Given the description of an element on the screen output the (x, y) to click on. 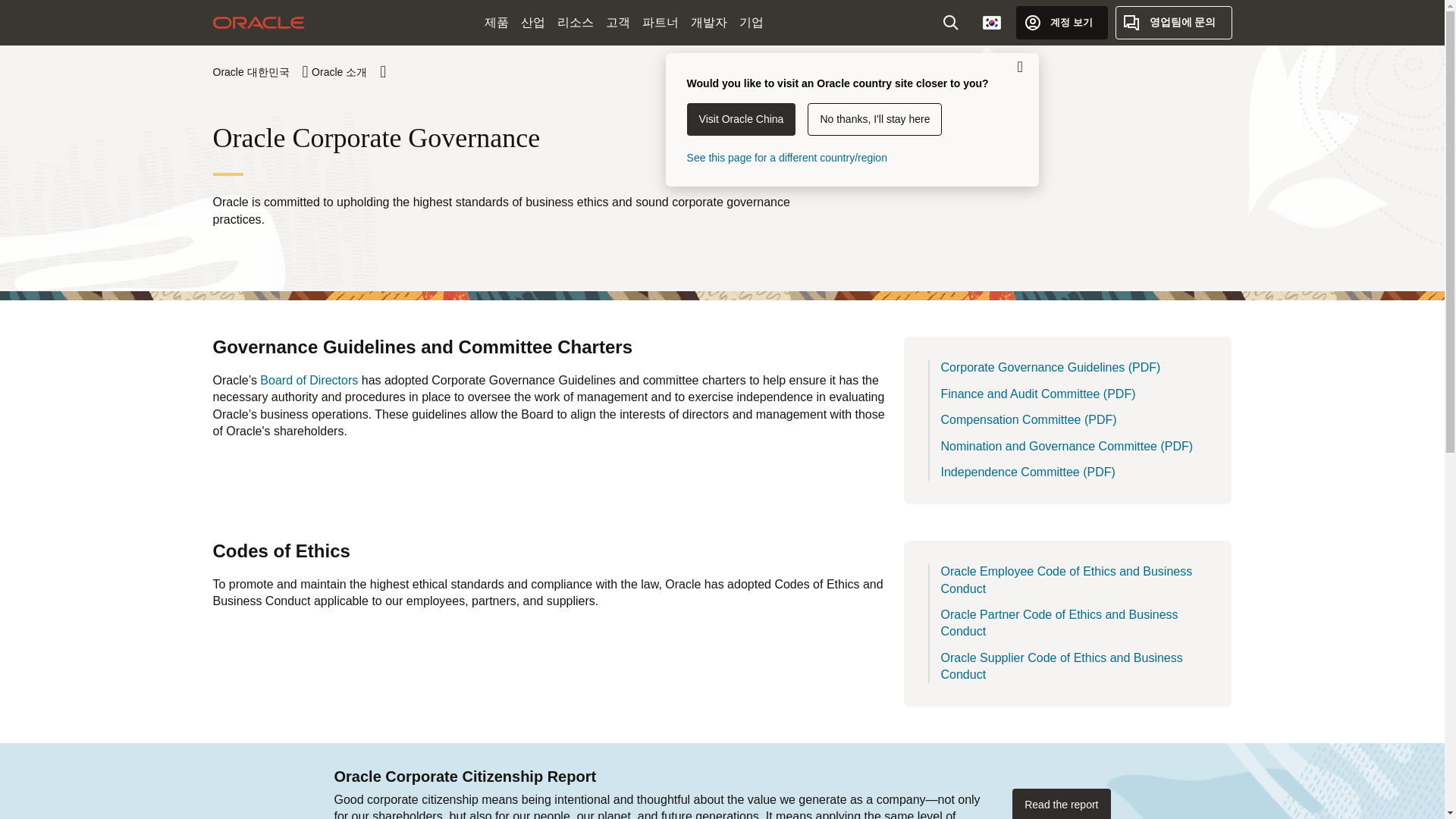
Board of Directors (309, 379)
No thanks, I'll stay here (875, 119)
Visit Oracle China (741, 119)
Country (992, 22)
